Given the description of an element on the screen output the (x, y) to click on. 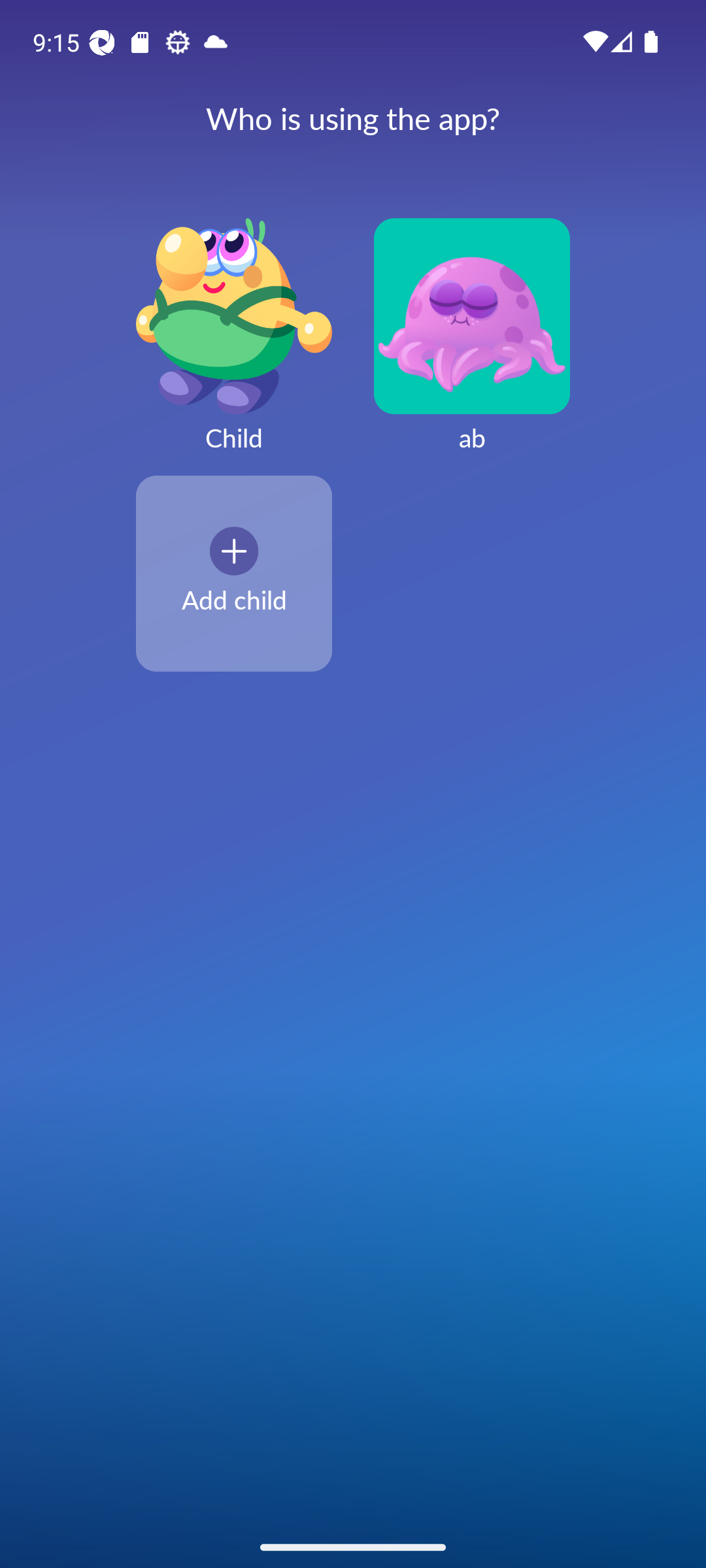
Child (233, 346)
ab (471, 346)
Add child (233, 573)
